Given the description of an element on the screen output the (x, y) to click on. 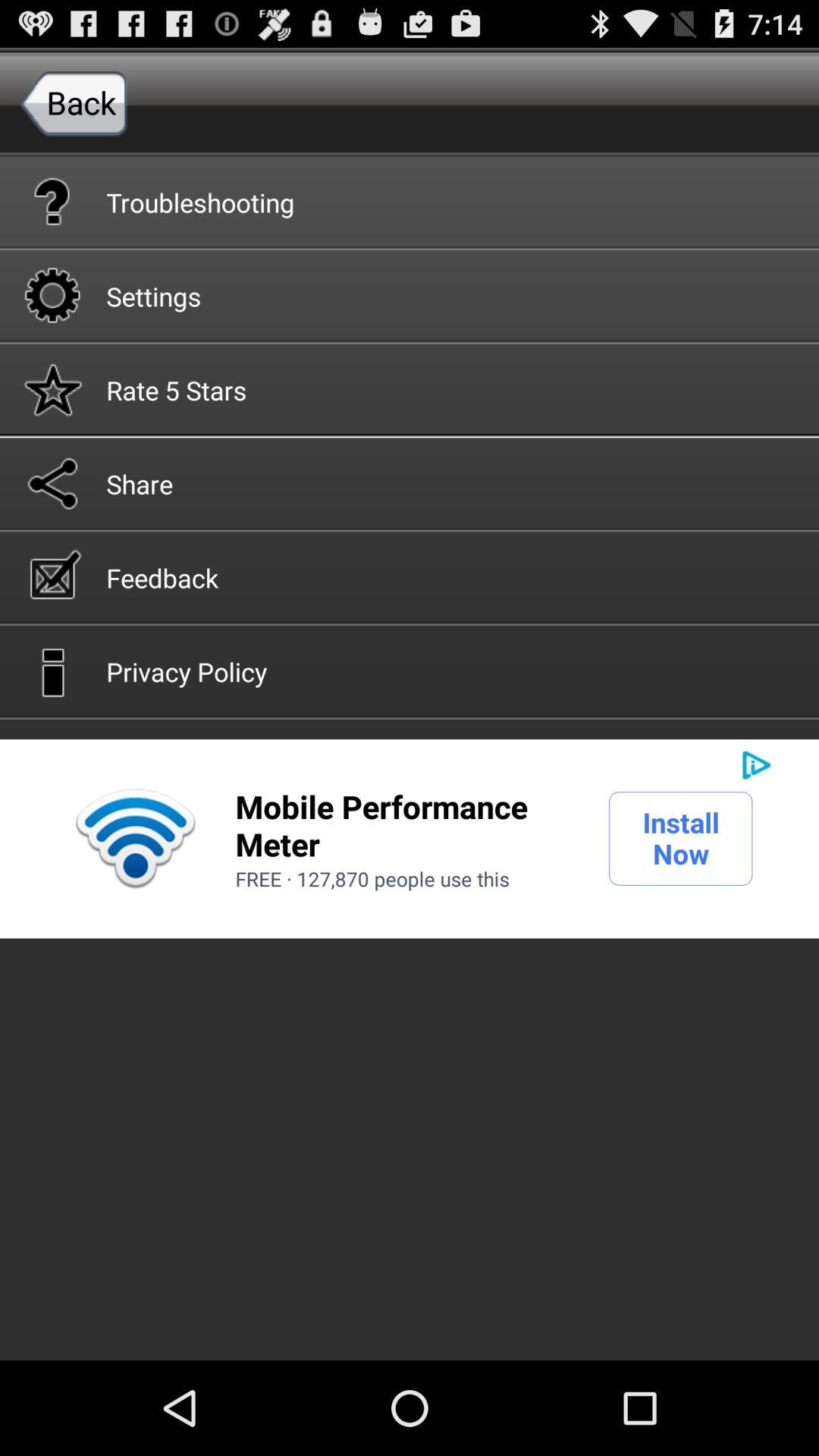
choose rate 5 stars button (409, 388)
